Given the description of an element on the screen output the (x, y) to click on. 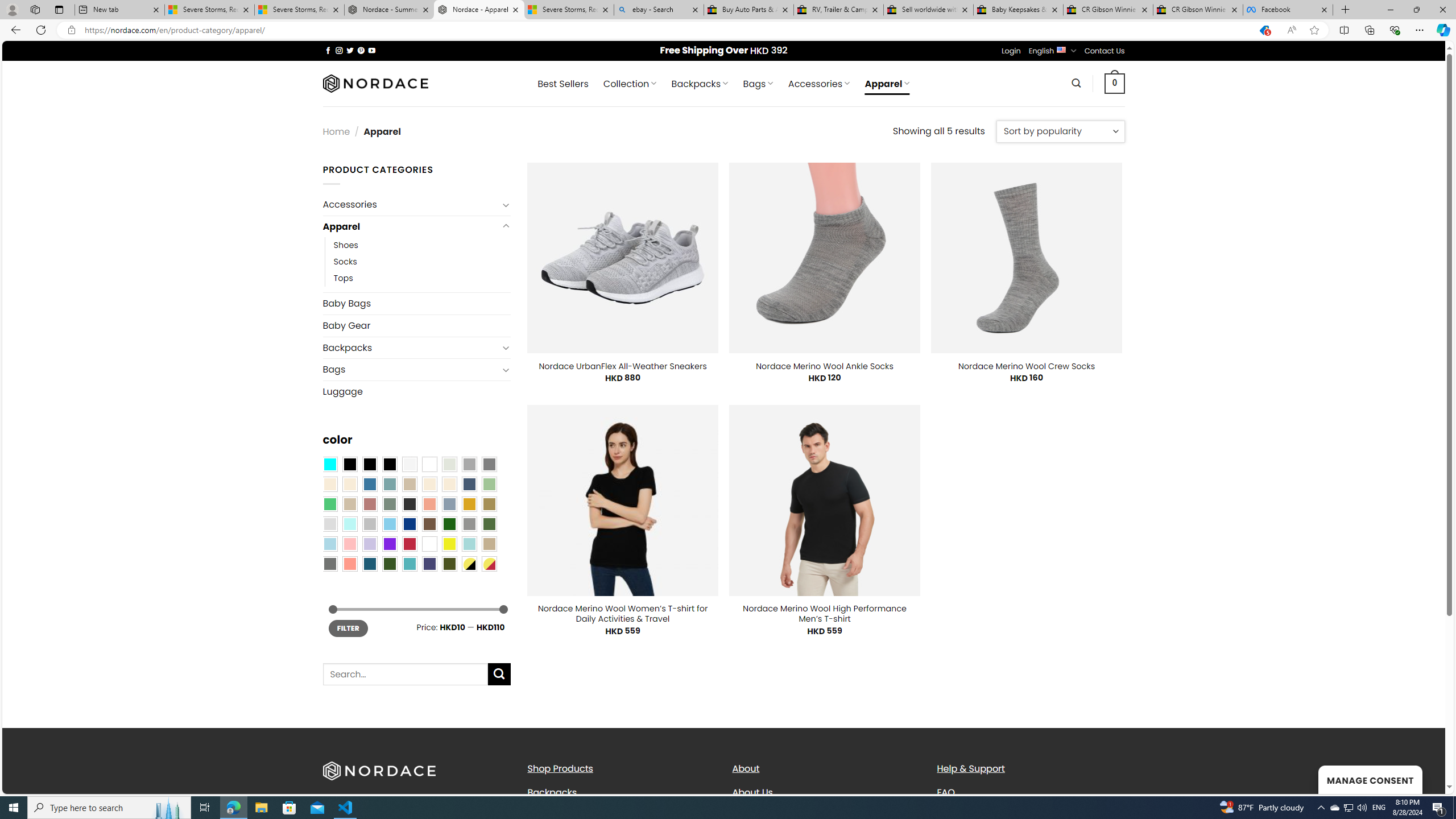
Sky Blue (389, 523)
Home (335, 131)
Brown (429, 523)
Black (369, 464)
MANAGE CONSENT (1369, 779)
Beige-Brown (349, 483)
About Us (826, 792)
Login (1010, 50)
Baby Keepsakes & Announcements for sale | eBay (1018, 9)
